Given the description of an element on the screen output the (x, y) to click on. 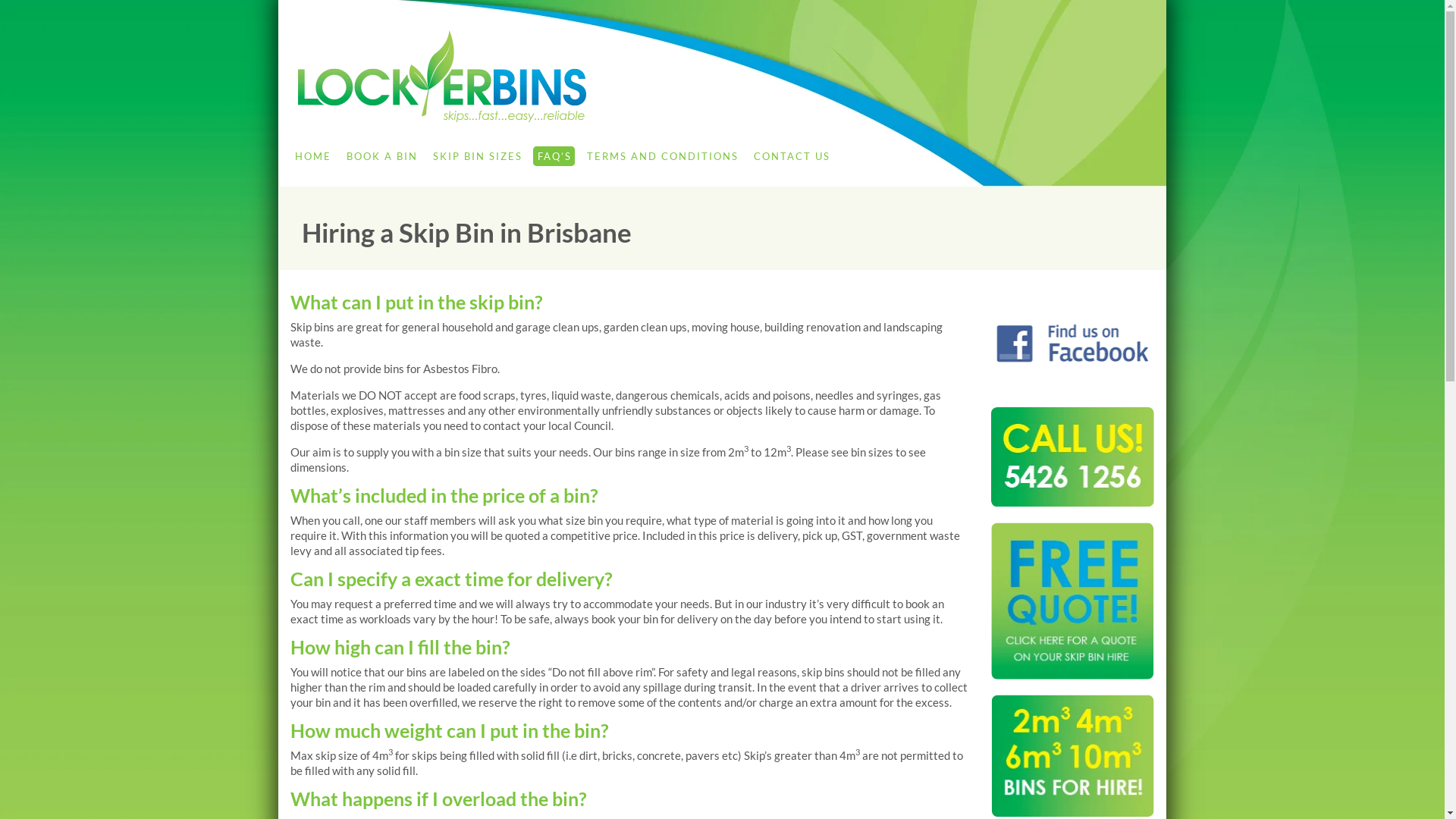
SKIP BIN SIZES Element type: text (475, 156)
BOOK A BIN Element type: text (380, 156)
HOME Element type: text (311, 156)
Lockyer Bins Element type: hover (725, 76)
TERMS AND CONDITIONS Element type: text (661, 156)
CONTACT US Element type: text (791, 156)
